Given the description of an element on the screen output the (x, y) to click on. 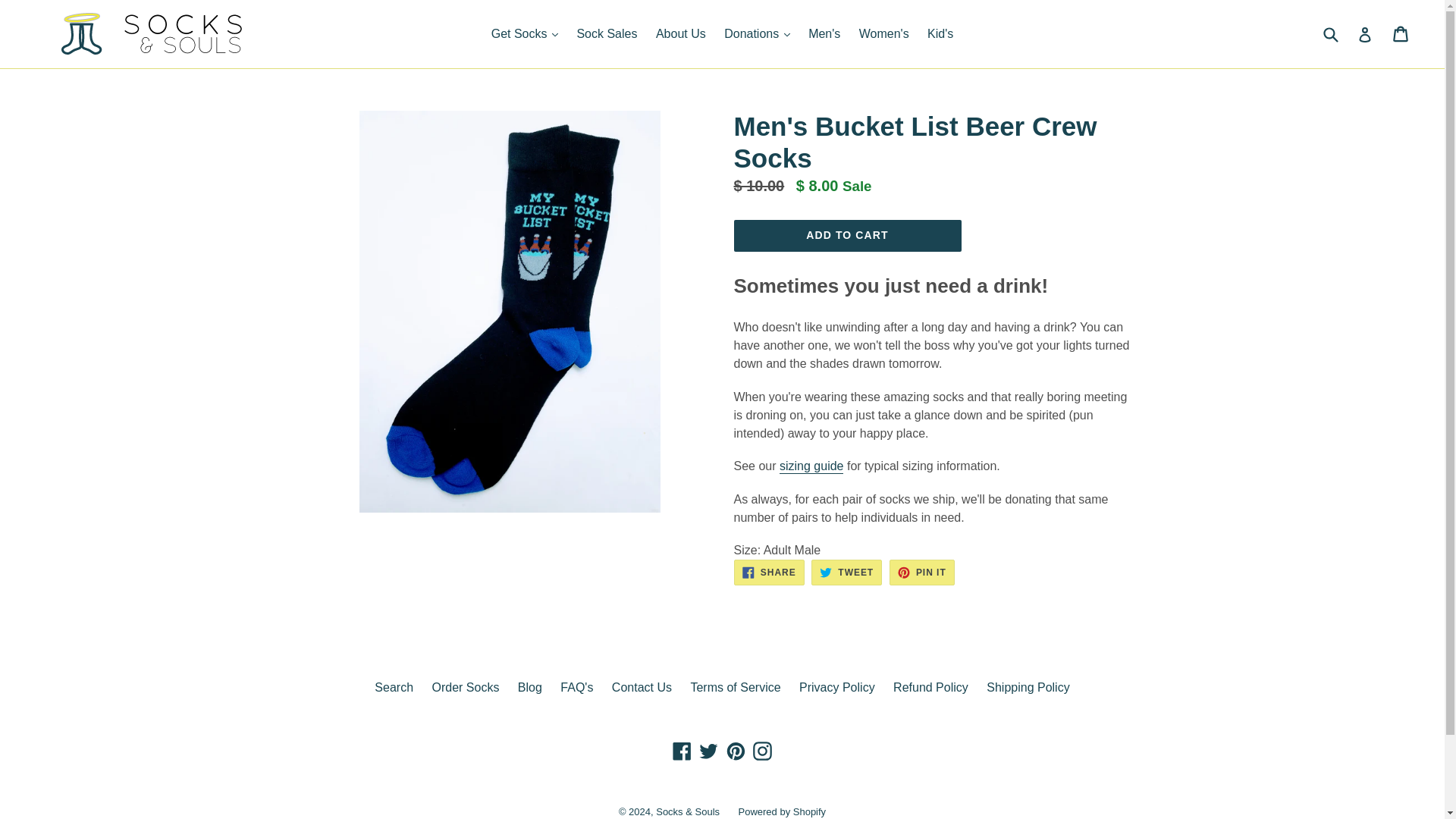
Socks and Souls Sizing Guide (811, 466)
Tweet on Twitter (846, 572)
Pin on Pinterest (922, 572)
Share on Facebook (769, 572)
